Given the description of an element on the screen output the (x, y) to click on. 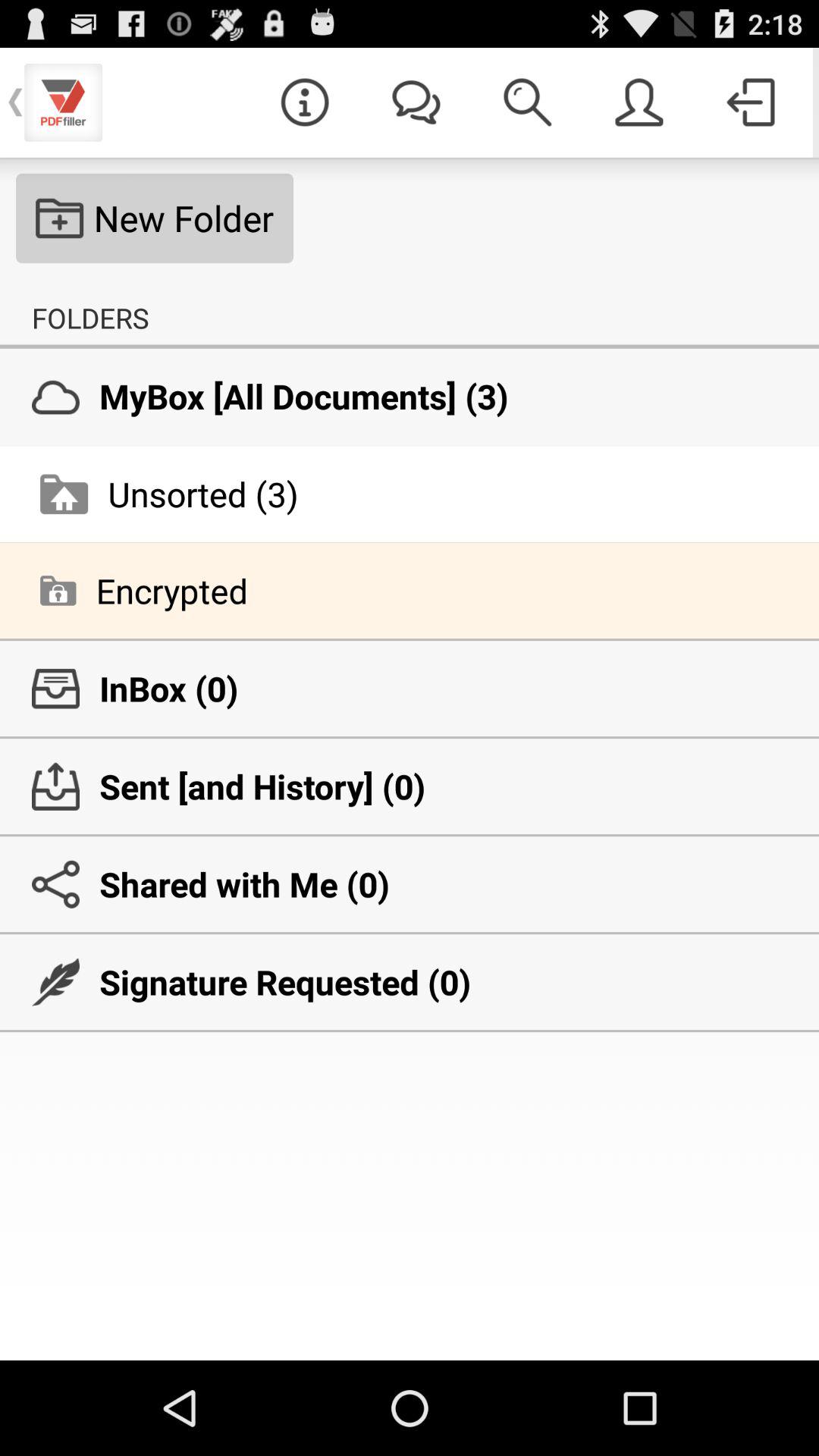
scroll until the shared with me (409, 884)
